Given the description of an element on the screen output the (x, y) to click on. 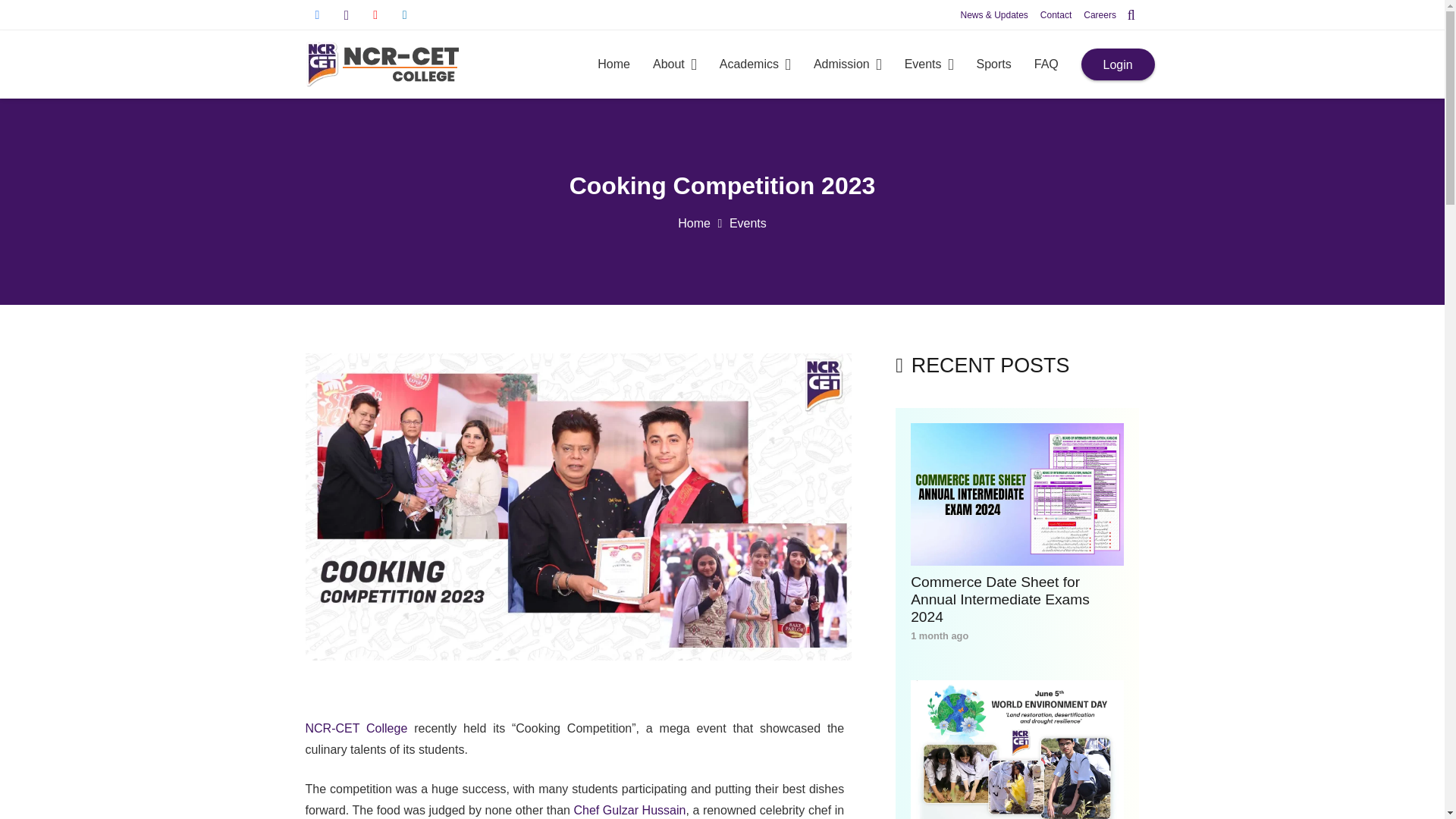
Instagram (346, 15)
Academics (754, 64)
LinkedIn (404, 15)
YouTube (374, 15)
Careers (1099, 14)
Contact (1056, 14)
About (674, 64)
Facebook (316, 15)
